Given the description of an element on the screen output the (x, y) to click on. 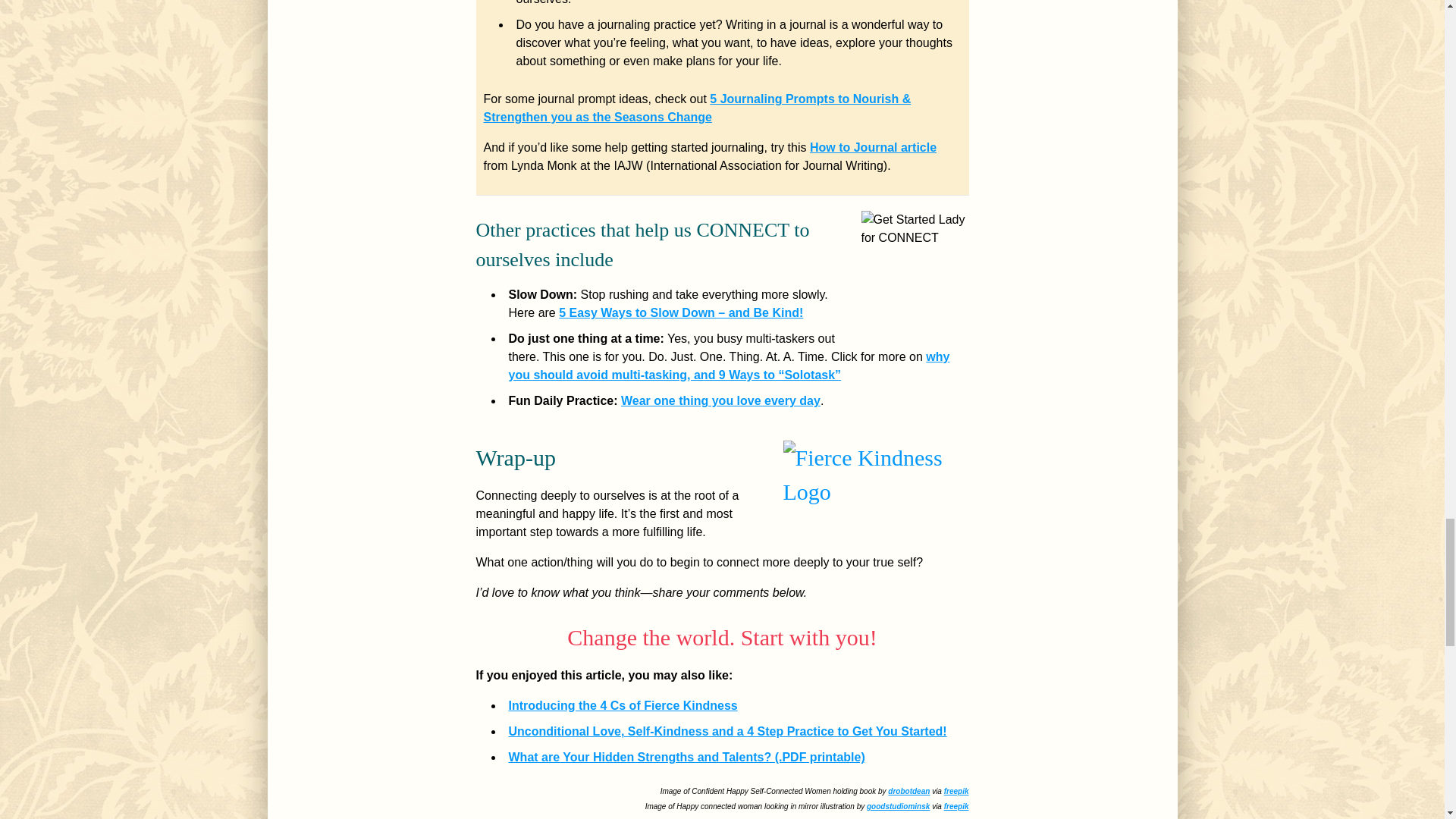
Introducing the 4 Cs of Fierce Kindness (622, 705)
How to Journal article (872, 146)
freepik (956, 791)
drobotdean (909, 791)
Wear one thing you love every day (721, 400)
